Given the description of an element on the screen output the (x, y) to click on. 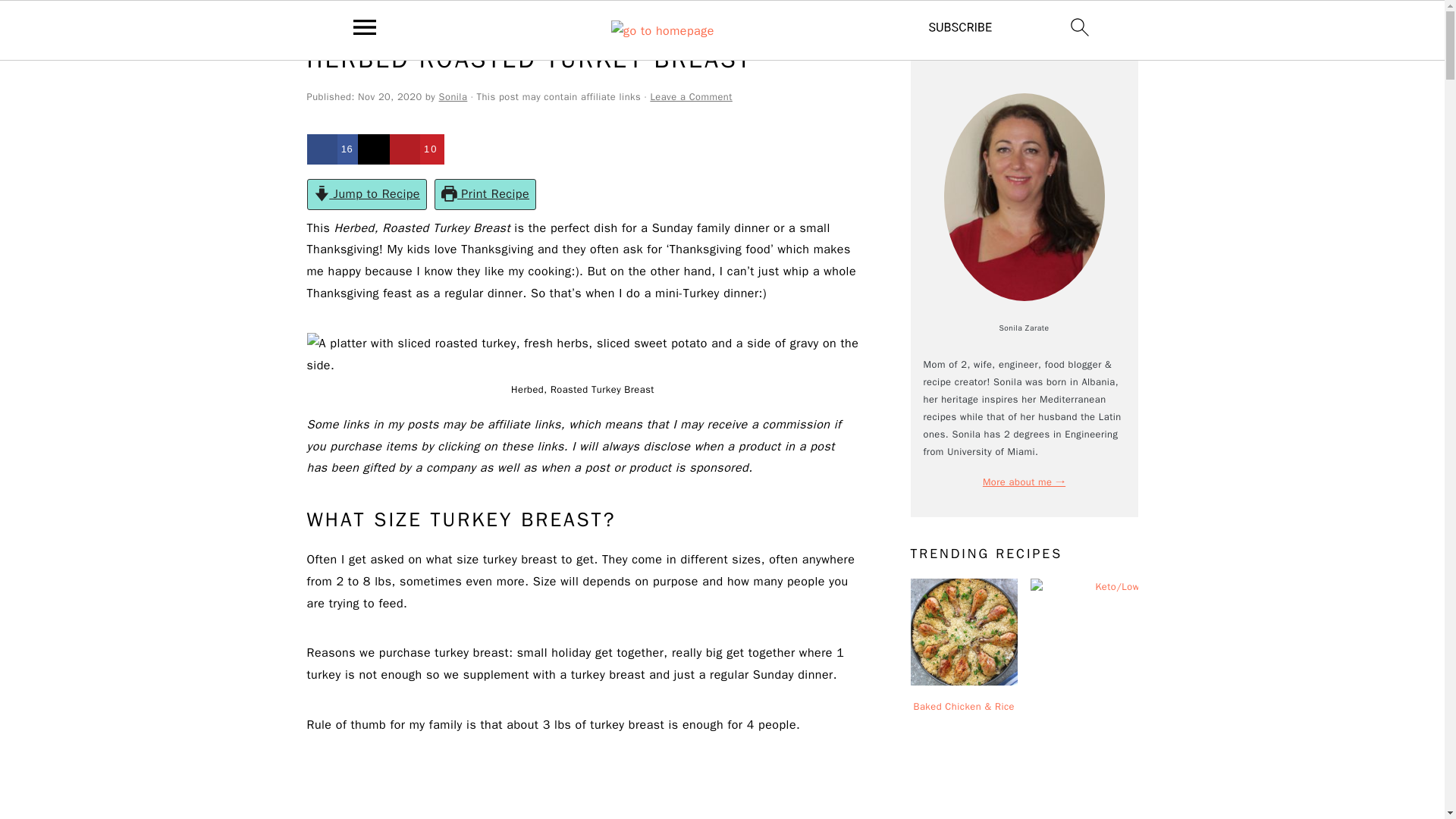
Recipes (361, 23)
Home (319, 23)
Share on Facebook (331, 149)
Save to Pinterest (417, 149)
Leave a Comment (690, 96)
10 (417, 149)
menu icon (365, 26)
Print Recipe (484, 194)
Sonila (453, 96)
